Given the description of an element on the screen output the (x, y) to click on. 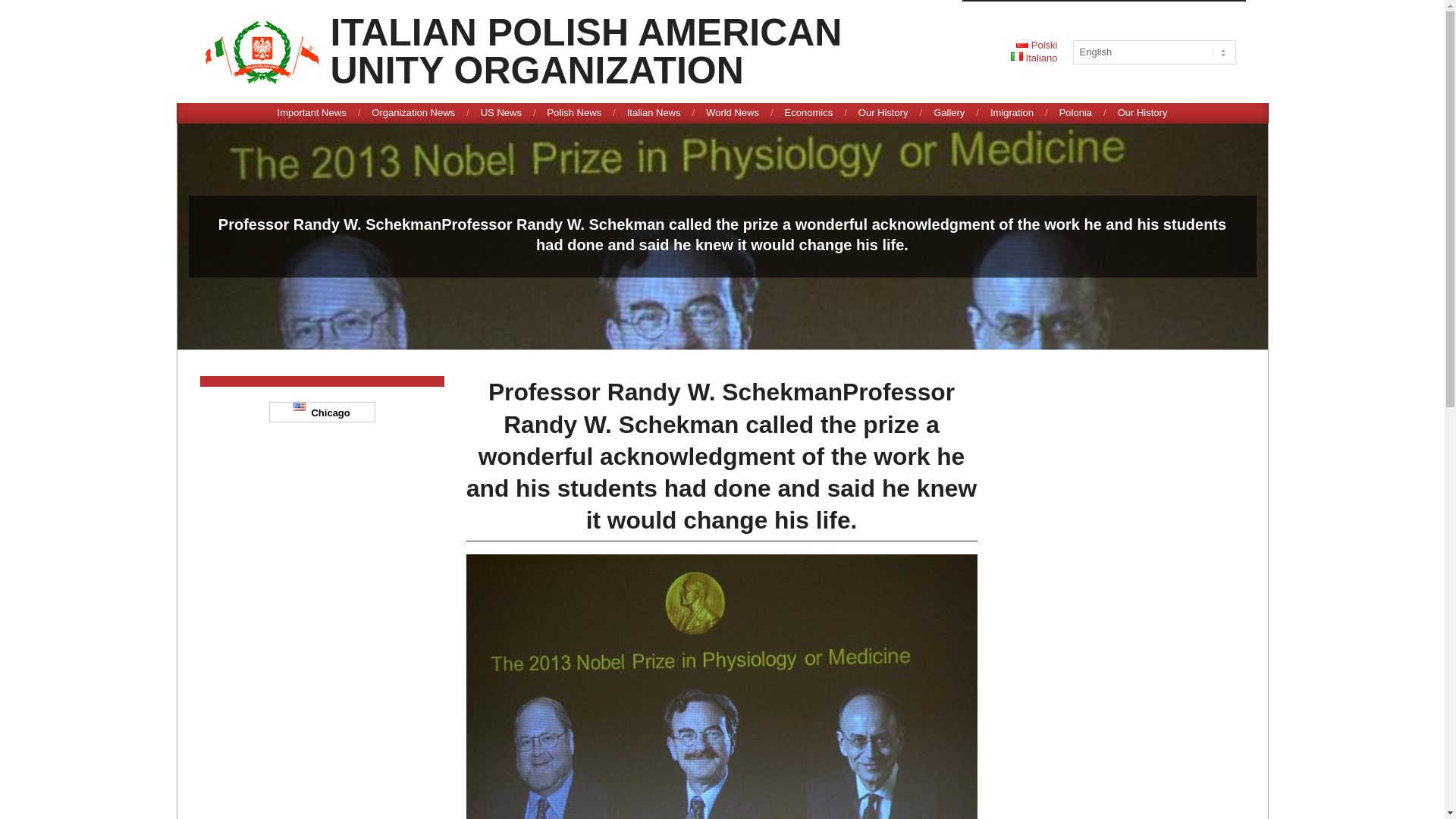
Important News (312, 112)
  Chicago (321, 412)
Polski (1037, 44)
Imigration (1011, 112)
World News (732, 112)
Polonia (586, 51)
Our History (1075, 112)
Italian News (883, 112)
Our History (654, 112)
